Given the description of an element on the screen output the (x, y) to click on. 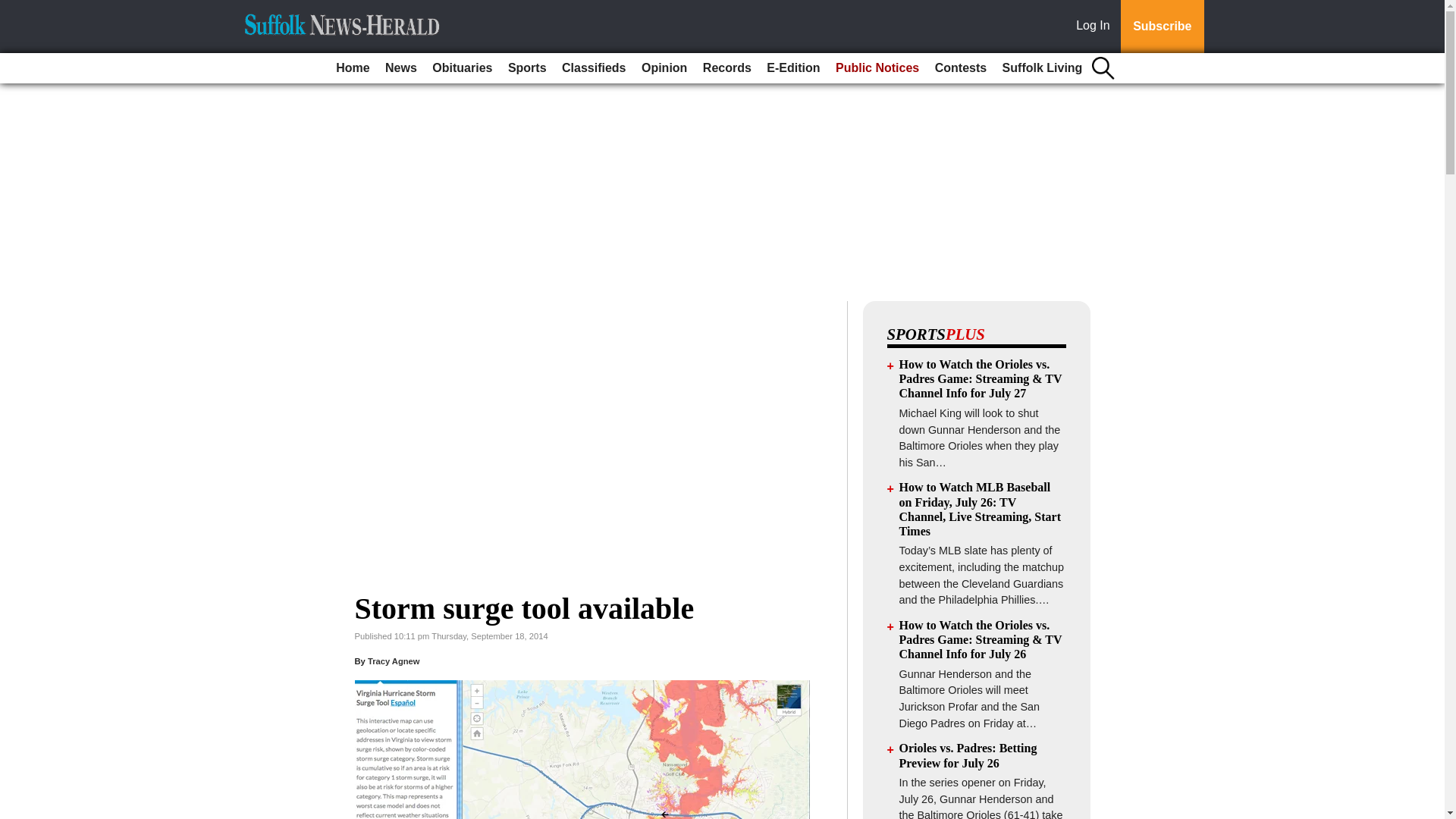
E-Edition (792, 68)
Tracy Agnew (394, 660)
Public Notices (876, 68)
Suffolk Living (1042, 68)
Records (727, 68)
Home (352, 68)
Obituaries (461, 68)
Contests (960, 68)
Go (13, 9)
Classifieds (593, 68)
Sports (527, 68)
Orioles vs. Padres: Betting Preview for July 26 (967, 755)
Log In (1095, 26)
Opinion (663, 68)
News (400, 68)
